Given the description of an element on the screen output the (x, y) to click on. 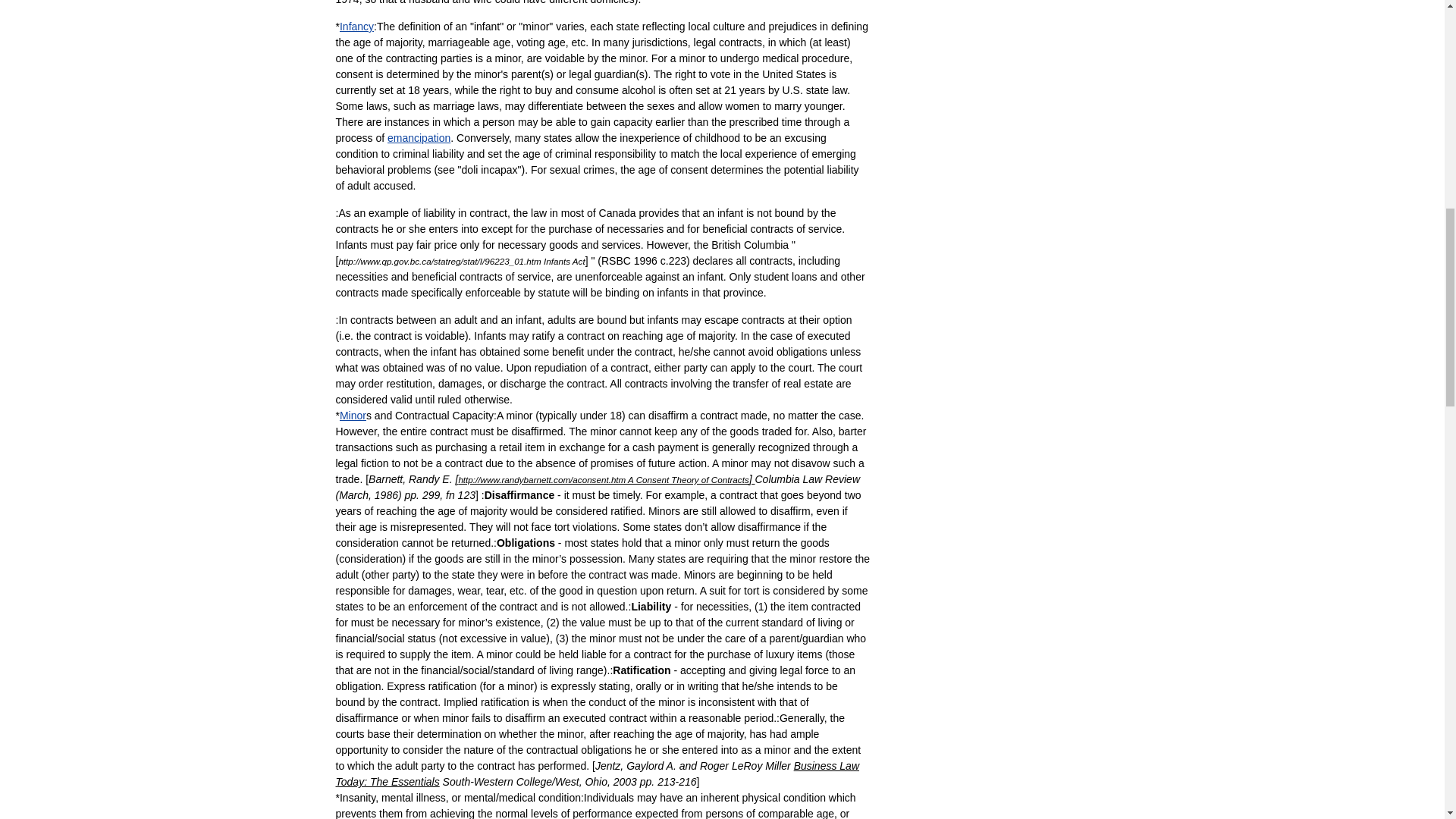
Minor (352, 415)
Infancy (356, 26)
emancipation (418, 137)
